Given the description of an element on the screen output the (x, y) to click on. 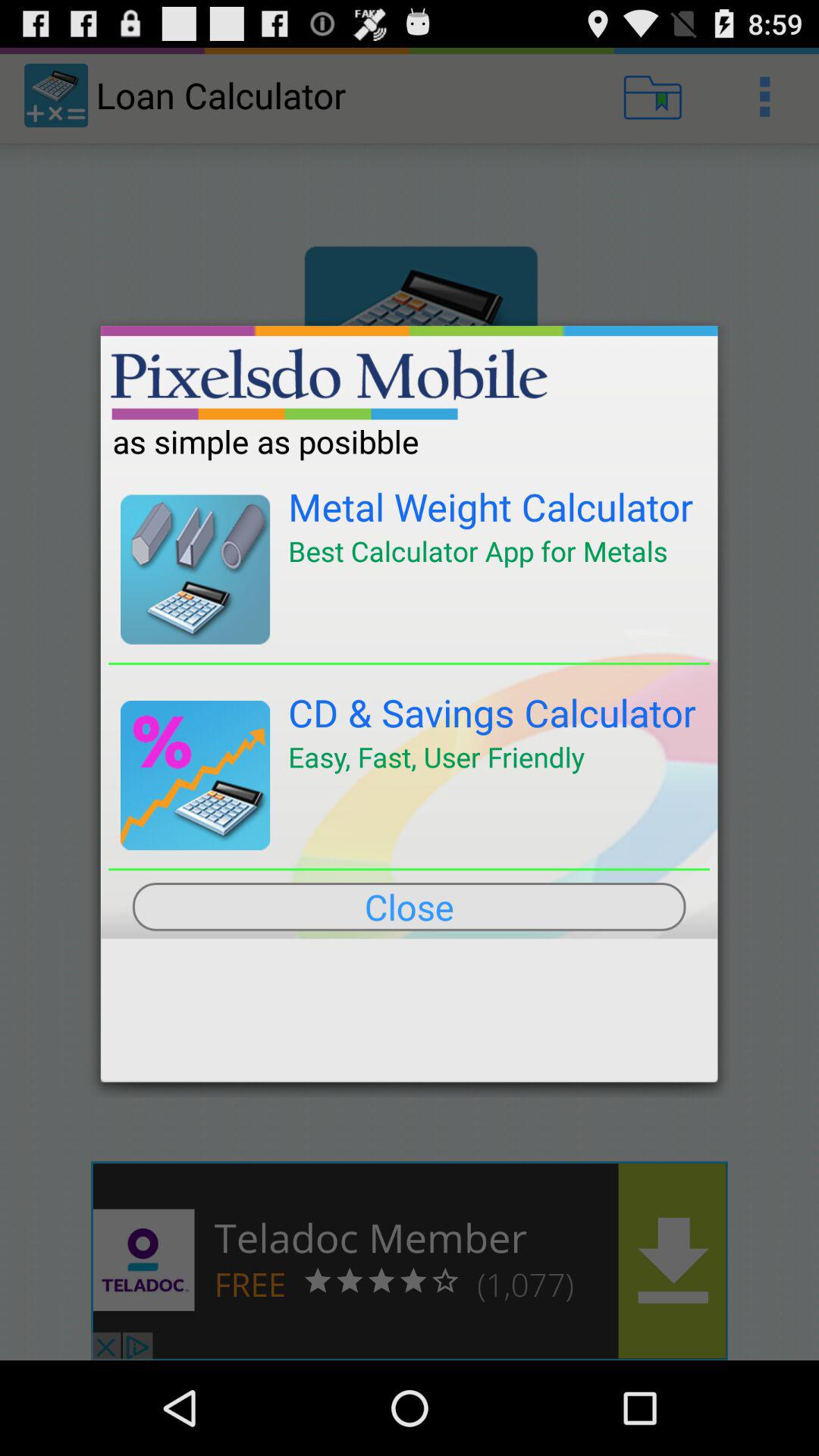
flip to the easy fast user icon (436, 756)
